Given the description of an element on the screen output the (x, y) to click on. 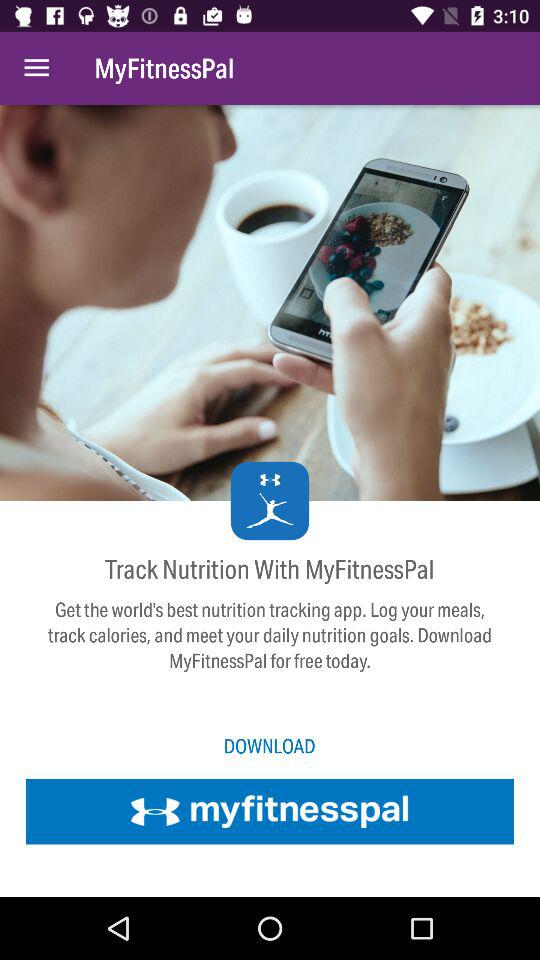
go to download (269, 811)
